Given the description of an element on the screen output the (x, y) to click on. 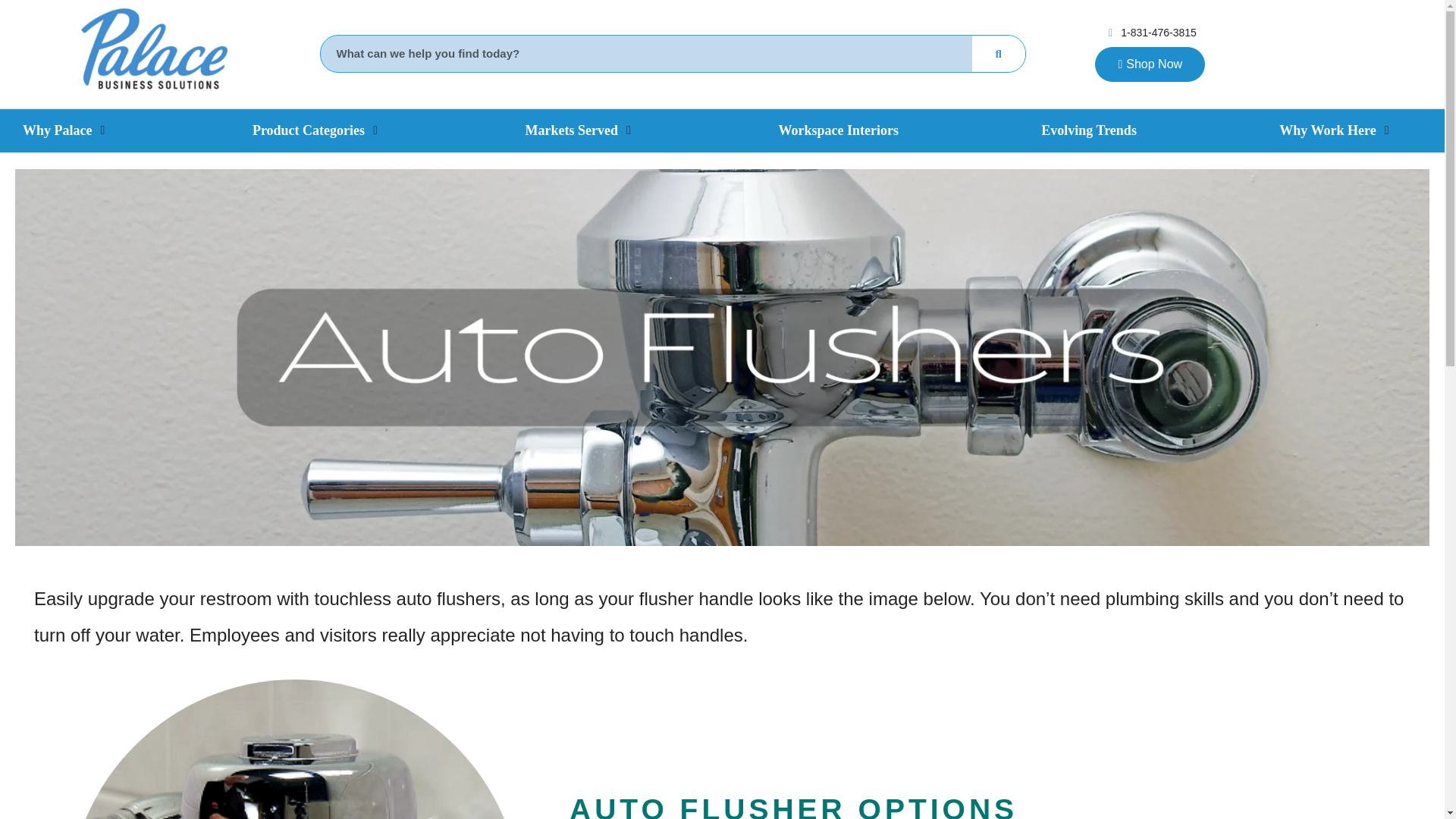
Product Categories (308, 130)
Shop Now (1149, 63)
Why Palace (58, 130)
1-831-476-3815 (1150, 32)
Markets Served (571, 130)
